Given the description of an element on the screen output the (x, y) to click on. 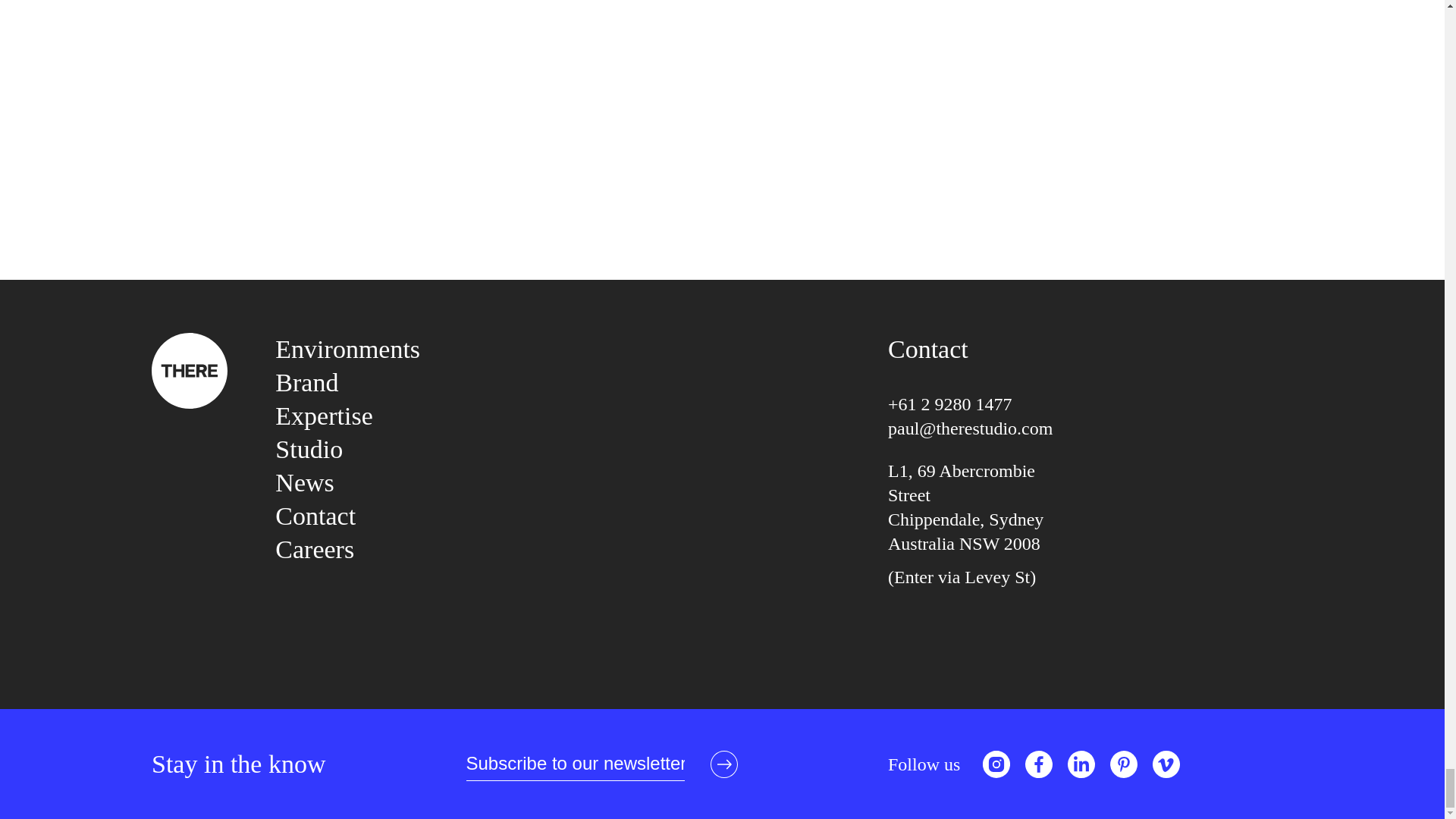
Send (723, 764)
